Given the description of an element on the screen output the (x, y) to click on. 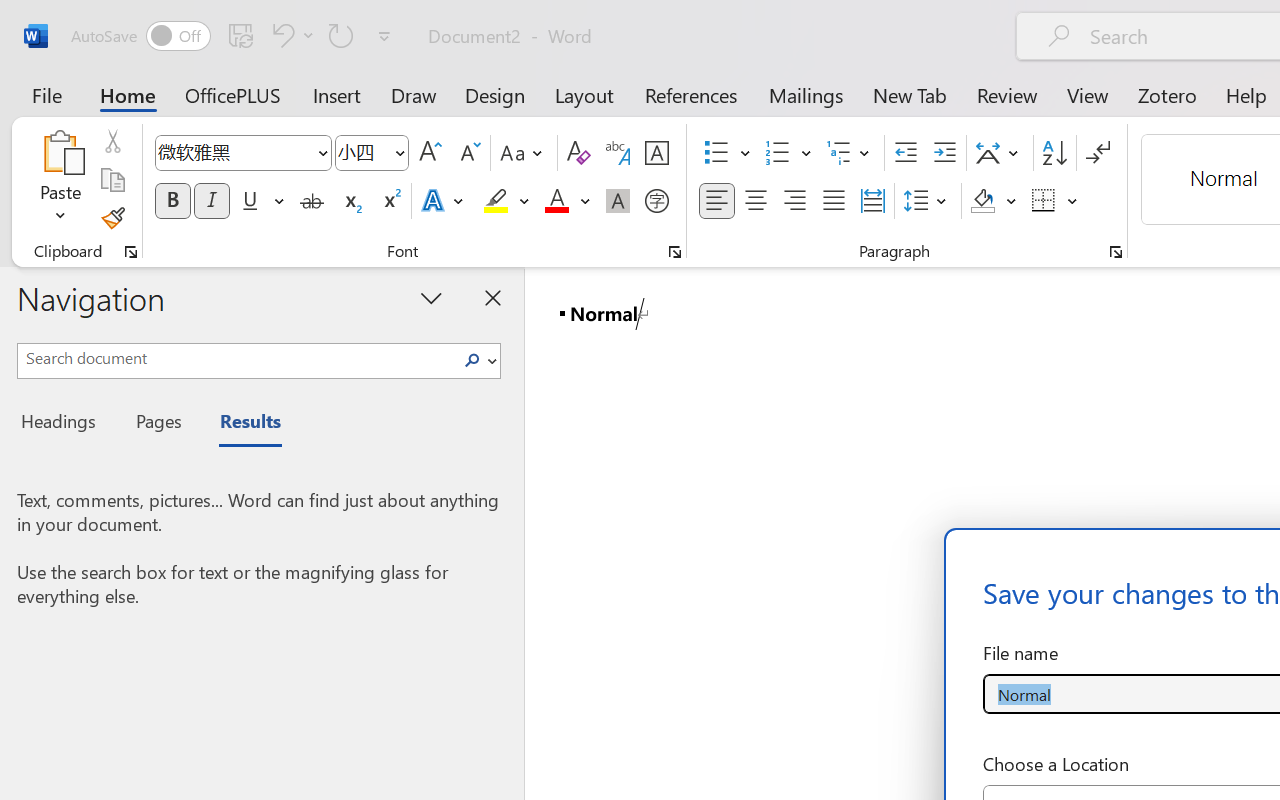
Search document (236, 358)
Numbering (778, 153)
Asian Layout (1000, 153)
Paragraph... (1115, 252)
Align Left (716, 201)
Cut (112, 141)
Font (242, 153)
Office Clipboard... (131, 252)
Draw (413, 94)
Text Highlight Color Yellow (495, 201)
Font Size (372, 153)
Subscript (350, 201)
Italic (212, 201)
Results (240, 424)
